Given the description of an element on the screen output the (x, y) to click on. 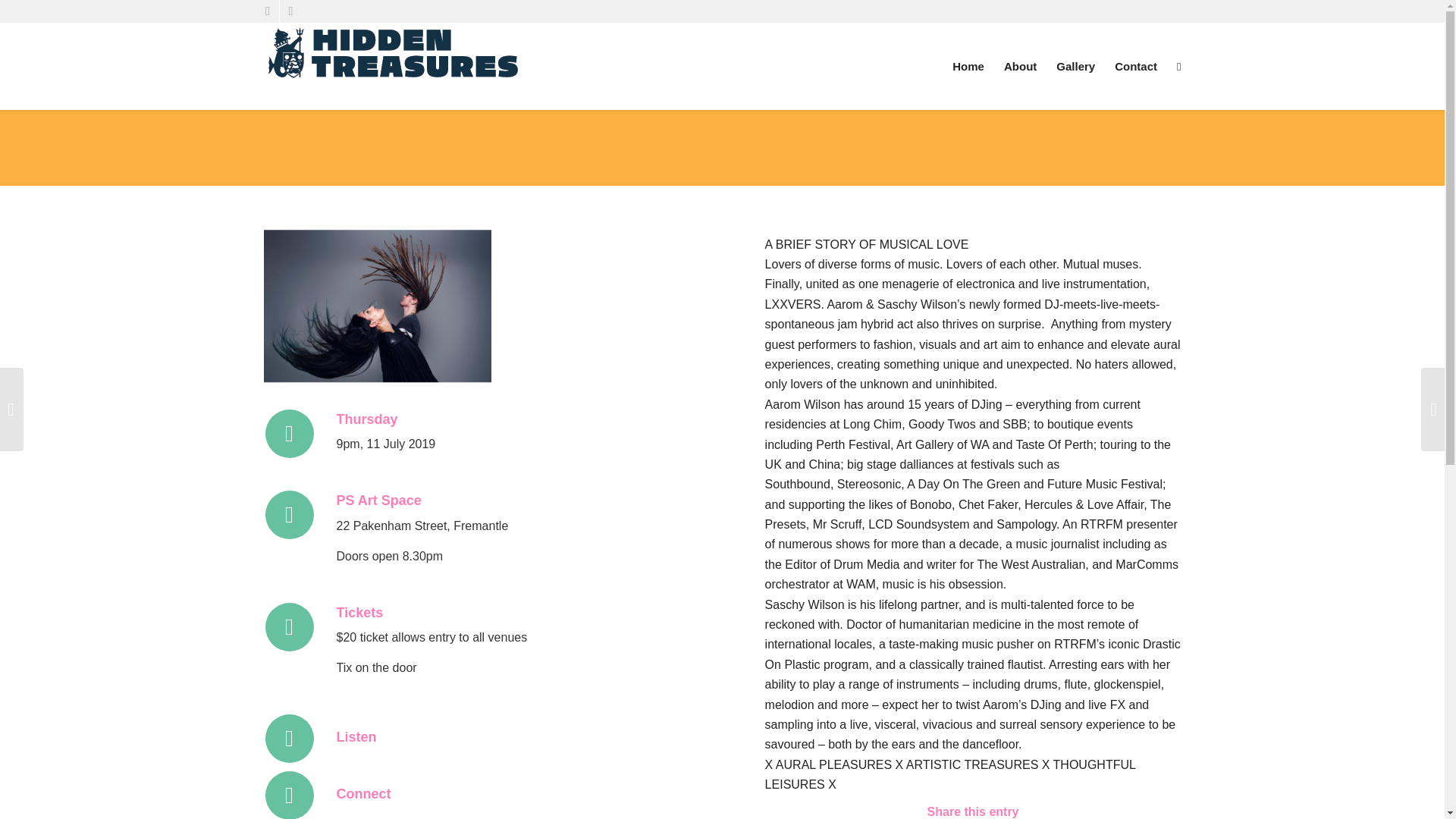
LXXVERS 1 (377, 305)
PS Art Space (379, 500)
Connect (363, 793)
Listen (356, 736)
Instagram (290, 11)
Listen (356, 736)
PS Art Space (379, 500)
Connect (363, 793)
Facebook (267, 11)
